Given the description of an element on the screen output the (x, y) to click on. 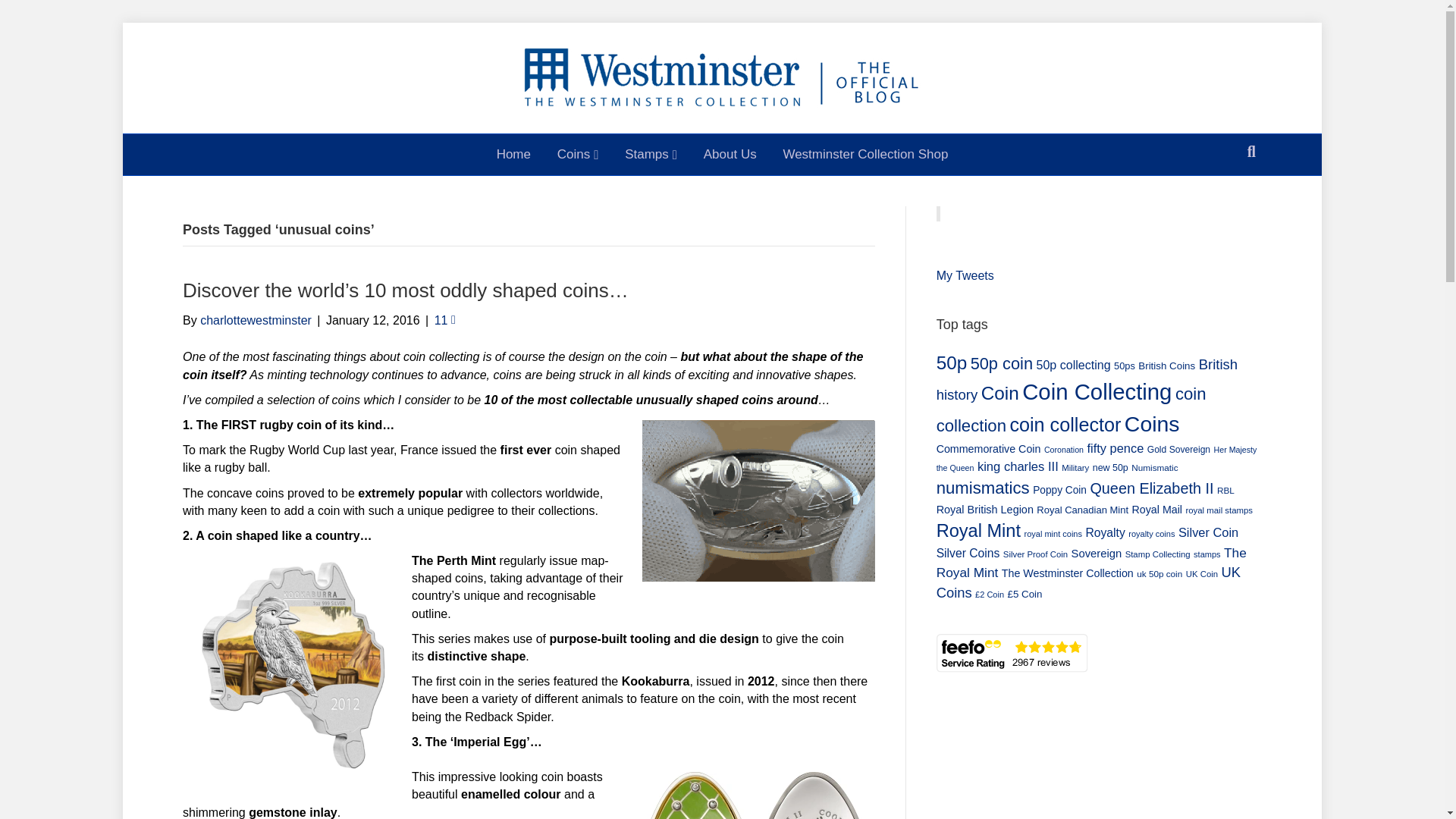
See what our customers say about us (1011, 652)
charlottewestminster (255, 319)
Home (512, 154)
11 (444, 319)
Westminster Collection Shop (865, 154)
Stamps (650, 154)
Coins (578, 154)
About Us (730, 154)
